Given the description of an element on the screen output the (x, y) to click on. 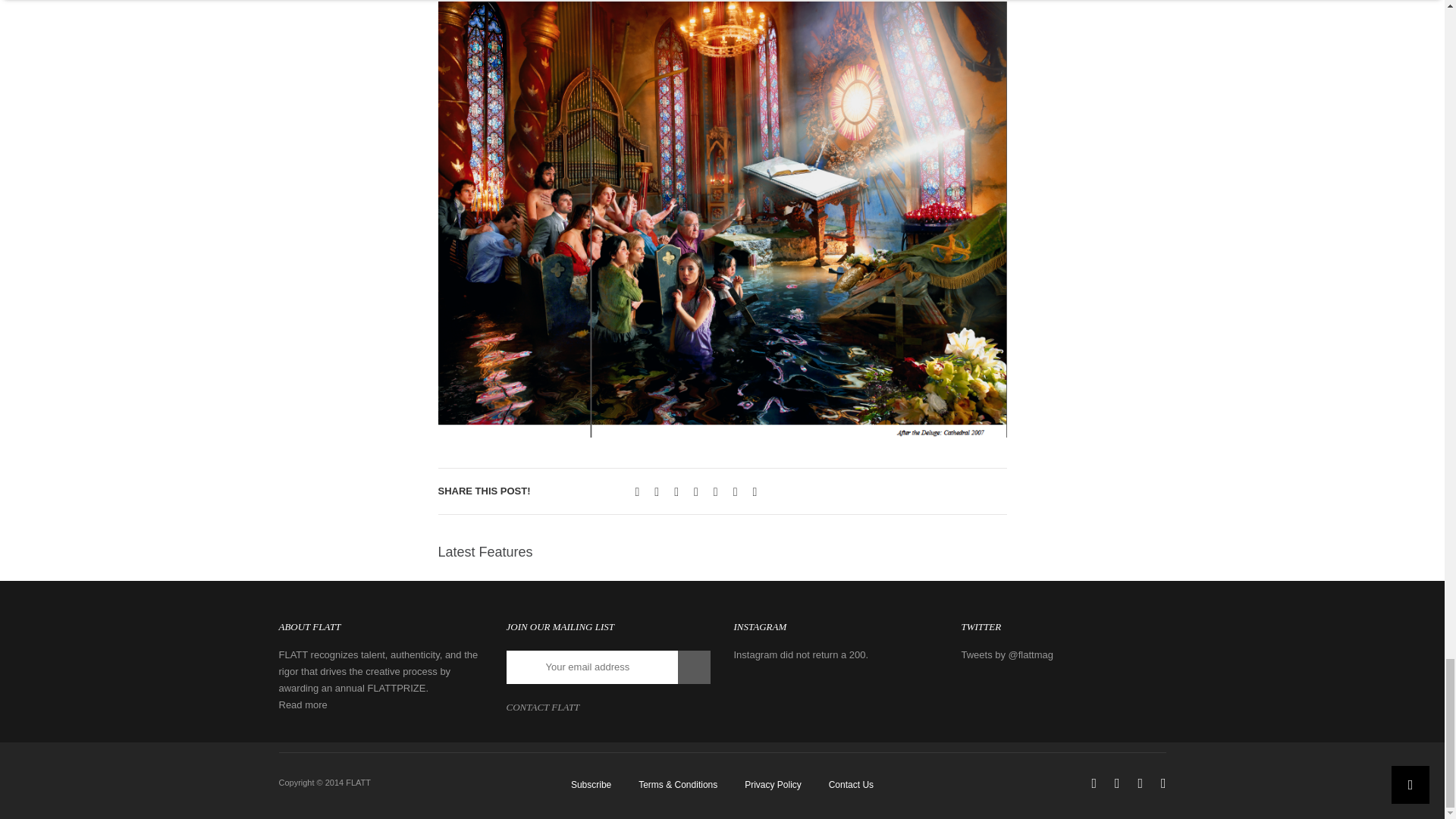
Sign up (694, 666)
